Given the description of an element on the screen output the (x, y) to click on. 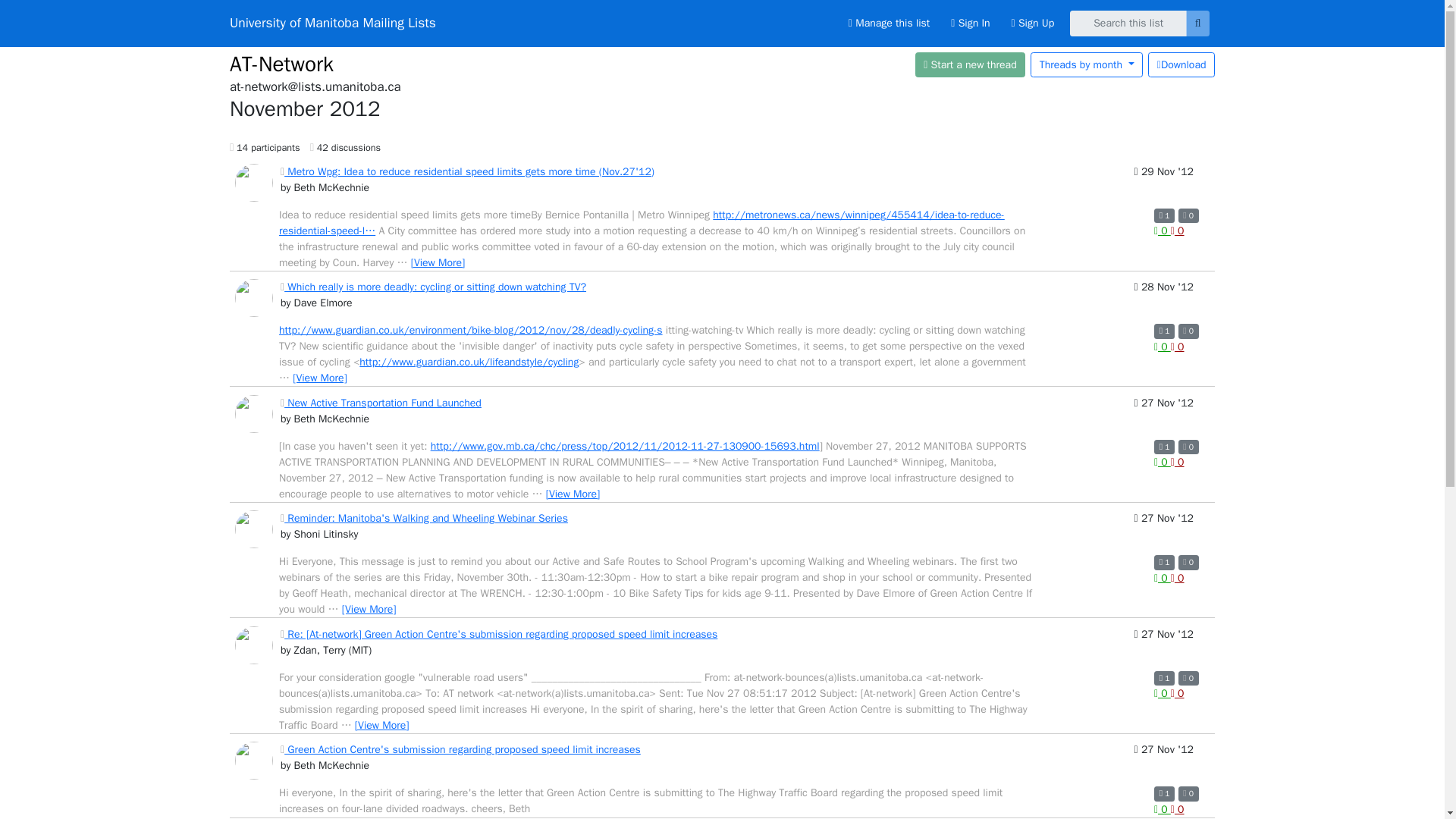
Sign In (970, 22)
Download (1181, 63)
AT-Network (281, 62)
Tuesday, 27 November 2012 16:52:55 (1163, 413)
University of Manitoba Mailing Lists (332, 23)
Manage this list (889, 22)
Thursday, 29 November 2012 08:21:40 (1163, 182)
You must be logged-in to vote. (1177, 346)
You must be logged-in to vote. (1162, 230)
You must be logged-in to vote. (1177, 230)
This month in gzipped mbox format (1181, 63)
Sign Up (1033, 22)
You must be logged-in to vote. (1162, 461)
Start a new thread (970, 63)
Wednesday, 28 November 2012 14:12:32 (1163, 297)
